Given the description of an element on the screen output the (x, y) to click on. 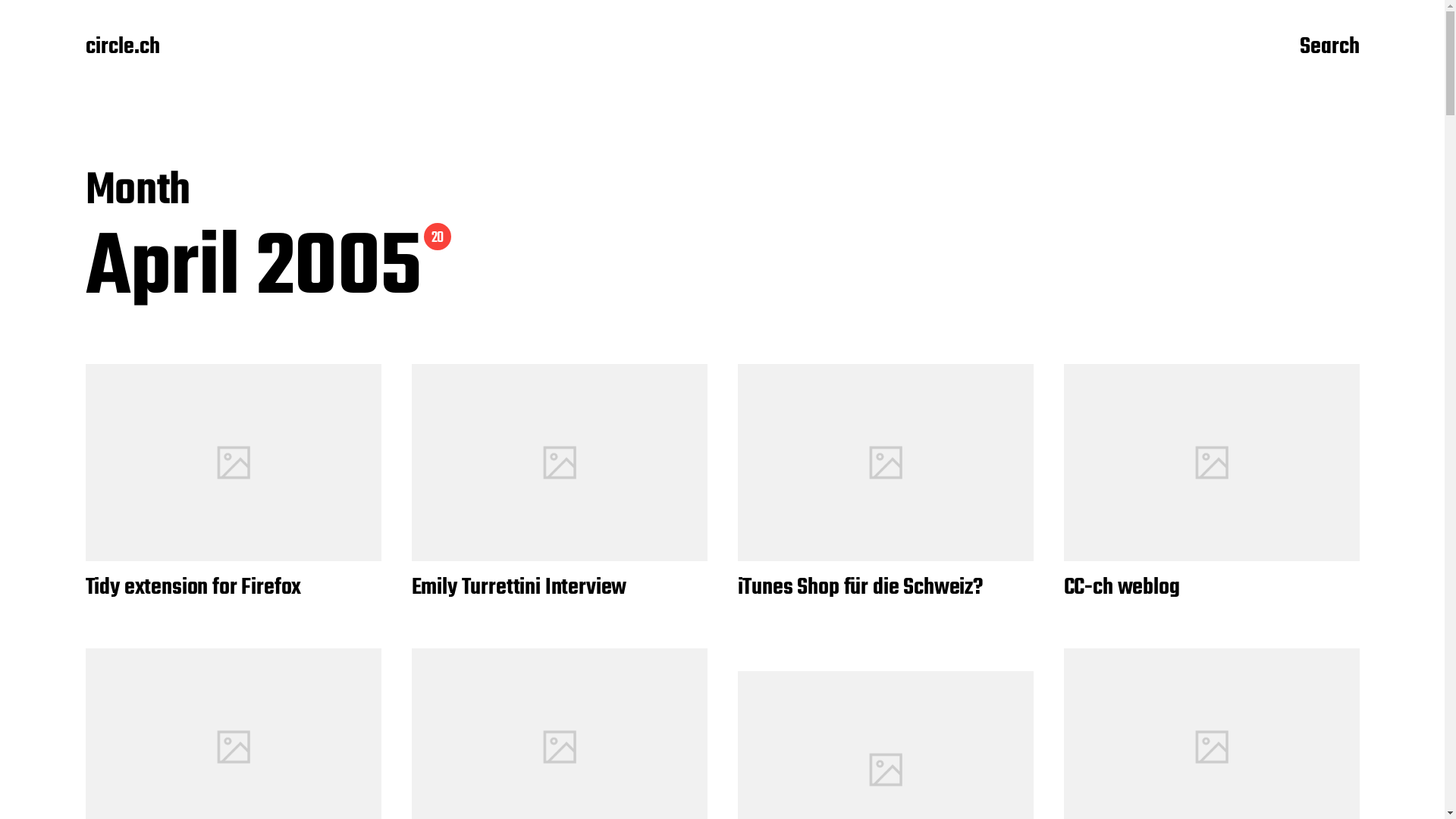
circle.ch Element type: text (121, 47)
CC-ch weblog Element type: text (1121, 587)
Tidy extension for Firefox Element type: text (192, 587)
Search Element type: text (1329, 47)
Emily Turrettini Interview Element type: text (518, 587)
